Given the description of an element on the screen output the (x, y) to click on. 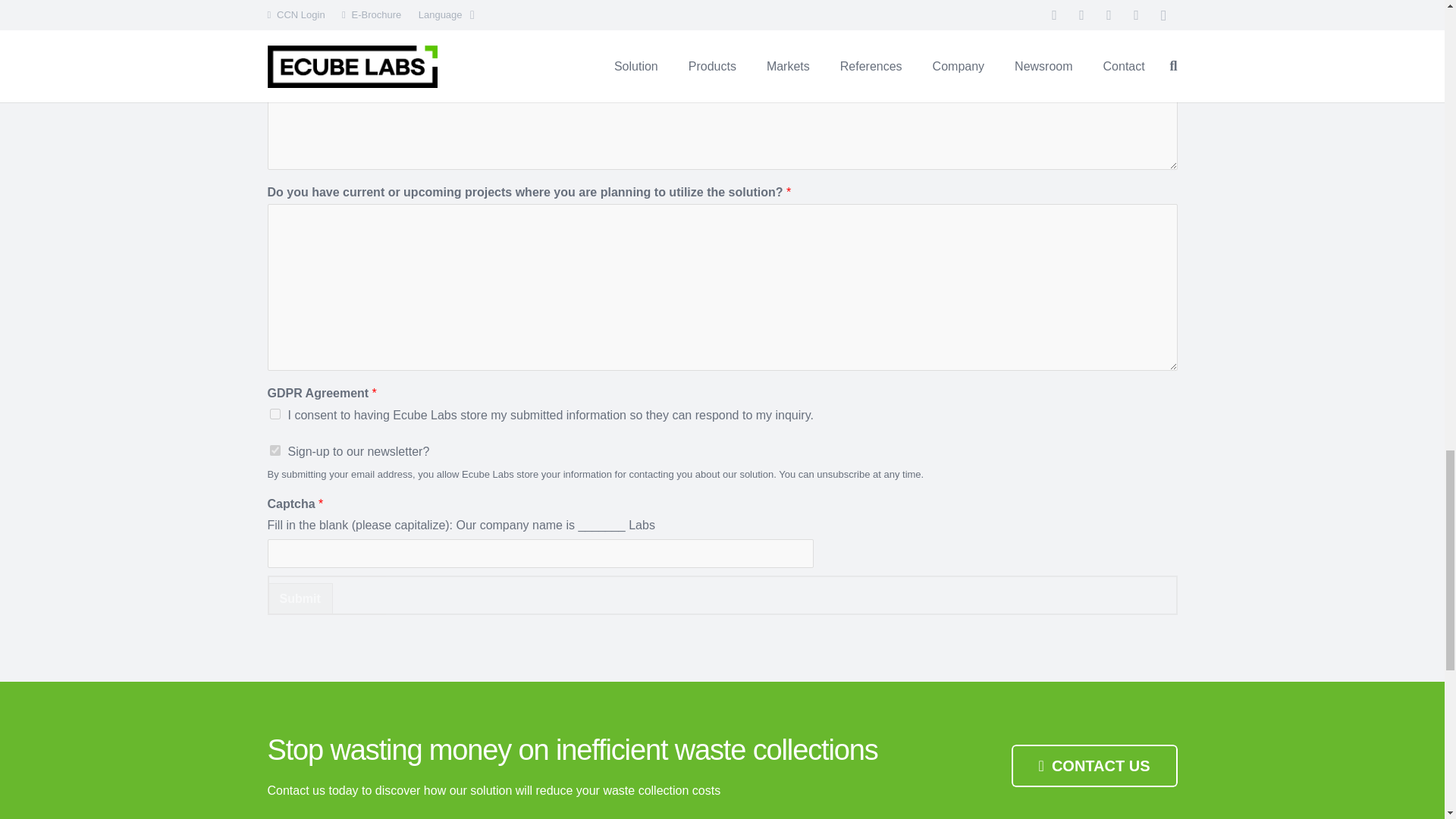
1 (275, 450)
